Given the description of an element on the screen output the (x, y) to click on. 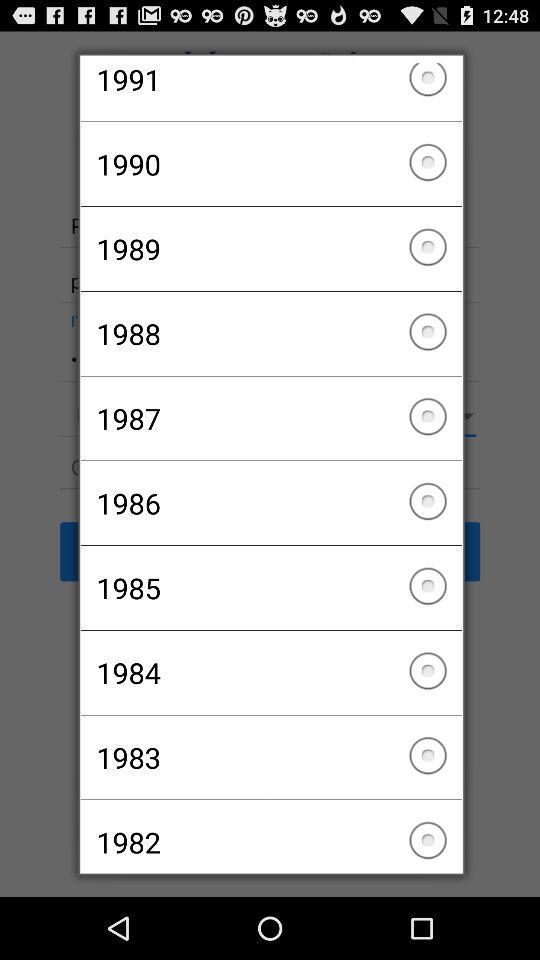
choose item below 1984 (270, 757)
